Given the description of an element on the screen output the (x, y) to click on. 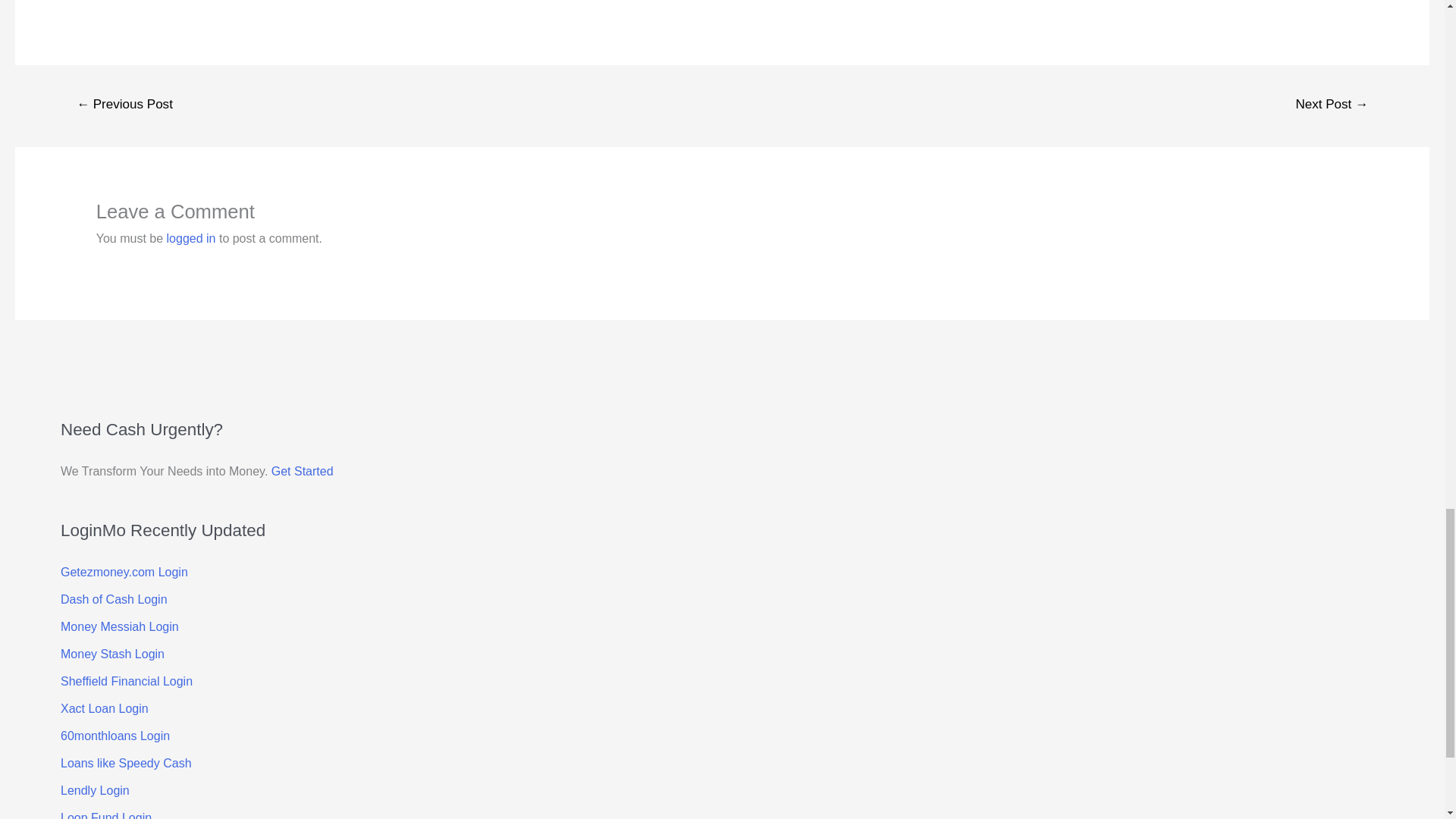
Money Stash Login (112, 653)
Lendly Login (95, 789)
Money Messiah Login (120, 626)
logged in (191, 237)
Dash of Cash Login (114, 599)
60monthloans Login (115, 735)
Loans like Speedy Cash (126, 762)
Get Started (301, 471)
Sheffield Financial Login (126, 680)
Getezmoney.com Login (124, 571)
Xact Loan Login (104, 707)
Loop Fund Login (106, 815)
